Given the description of an element on the screen output the (x, y) to click on. 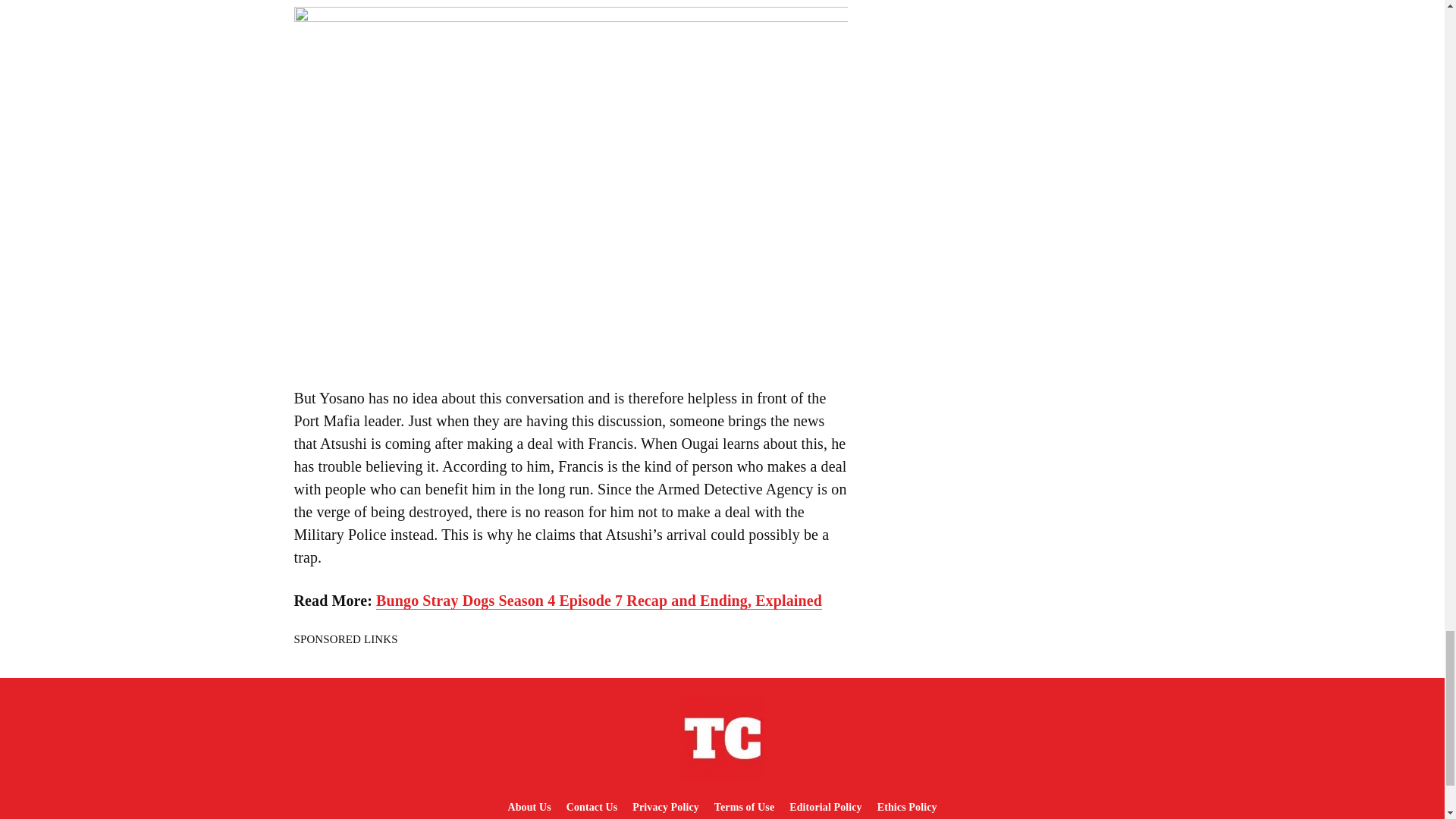
Terms of Use (743, 807)
Editorial Policy (825, 807)
About Us (528, 807)
Ethics Policy (906, 807)
Contact Us (592, 807)
Privacy Policy (665, 807)
